Given the description of an element on the screen output the (x, y) to click on. 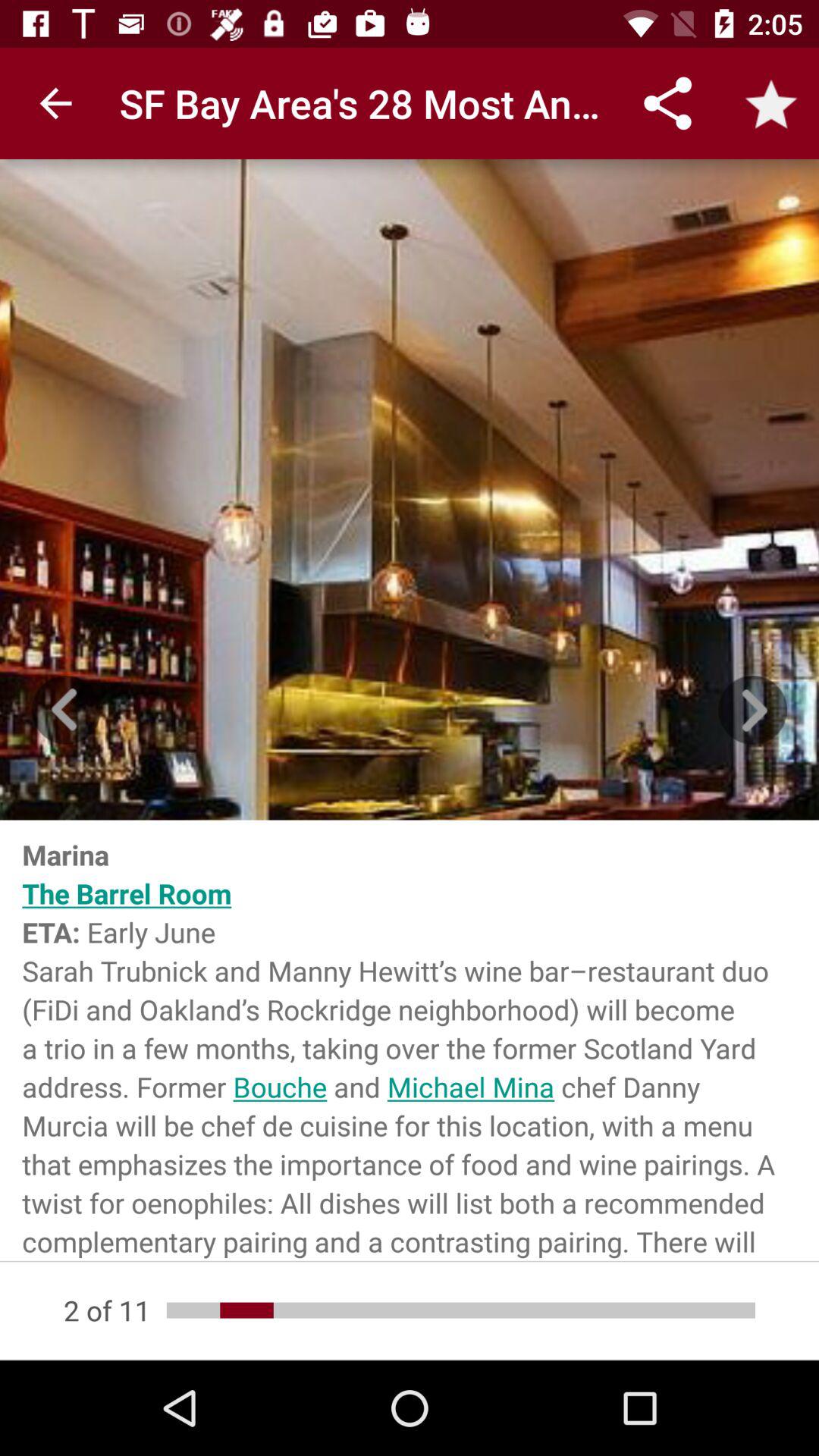
select icon above 2 of 11 (409, 1040)
